Given the description of an element on the screen output the (x, y) to click on. 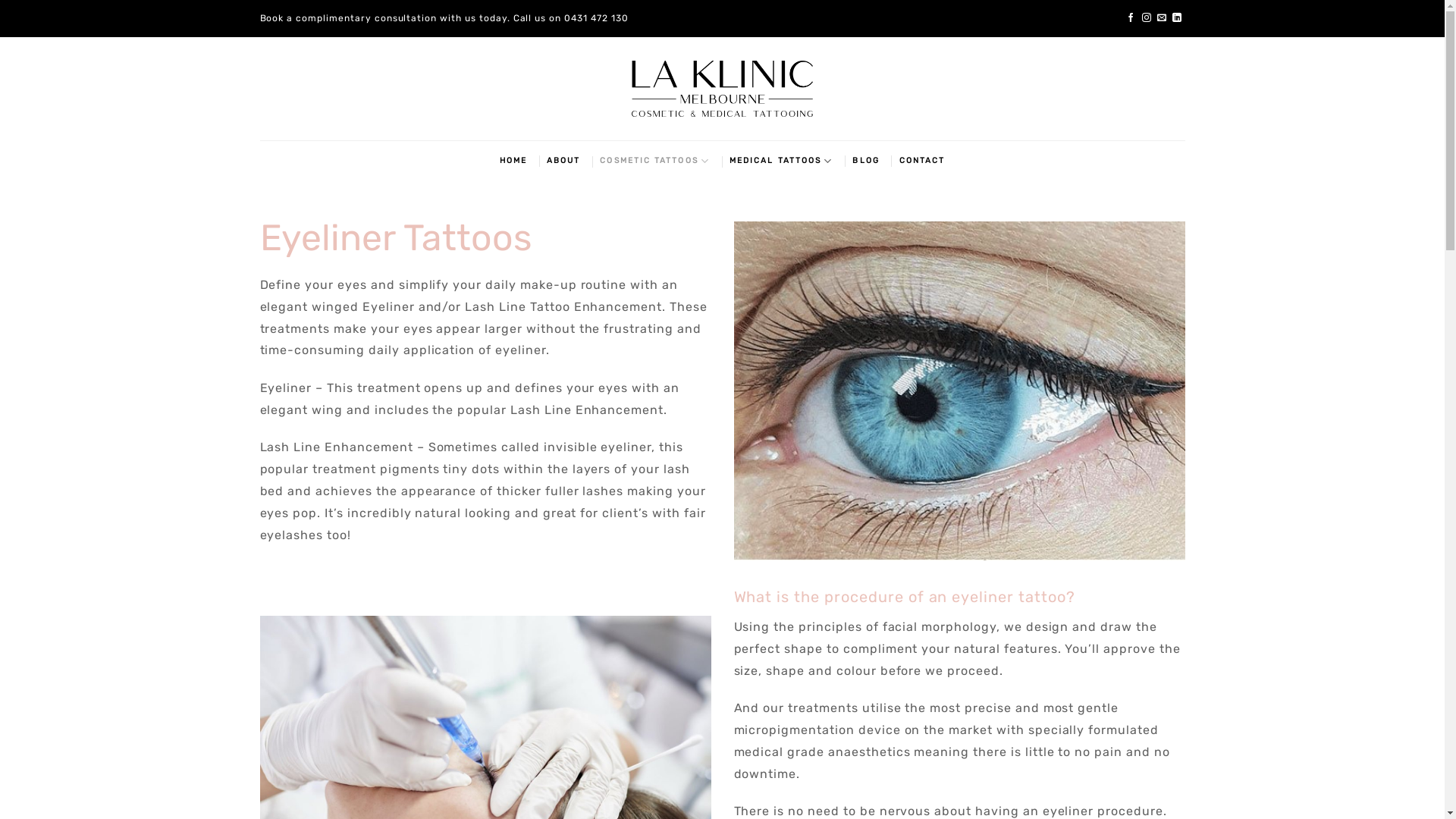
HOME Element type: text (513, 161)
COSMETIC TATTOOS Element type: text (654, 160)
MEDICAL TATTOOS Element type: text (780, 160)
Follow on Facebook Element type: hover (1130, 17)
BLOG Element type: text (865, 161)
ABOUT Element type: text (563, 161)
Follow on LinkedIn Element type: hover (1177, 17)
Follow on Instagram Element type: hover (1146, 17)
Send us an email Element type: hover (1162, 17)
La Klinic - La Klinic Element type: hover (721, 88)
CONTACT Element type: text (922, 161)
